Given the description of an element on the screen output the (x, y) to click on. 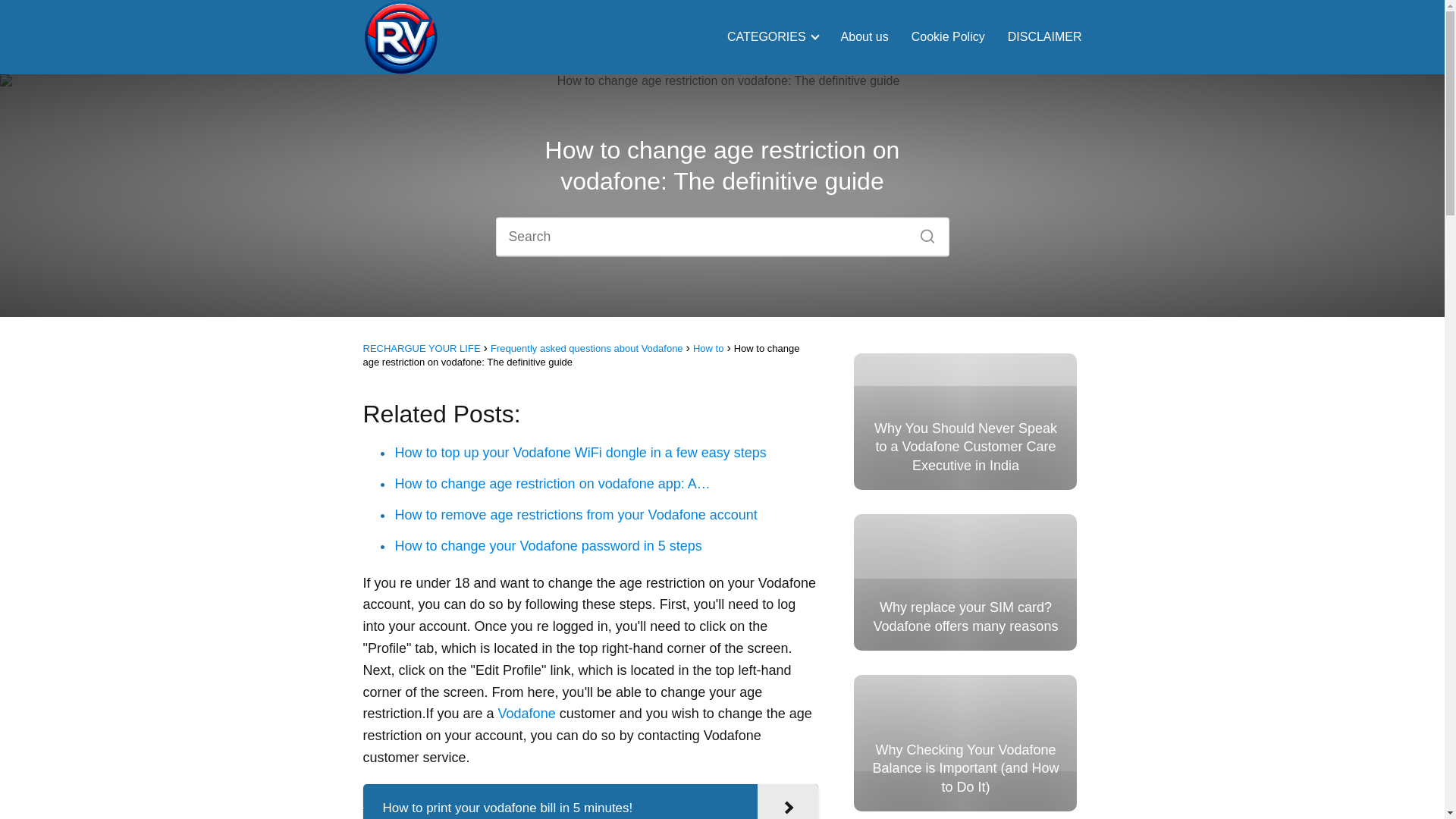
CATEGORIES (769, 36)
